Given the description of an element on the screen output the (x, y) to click on. 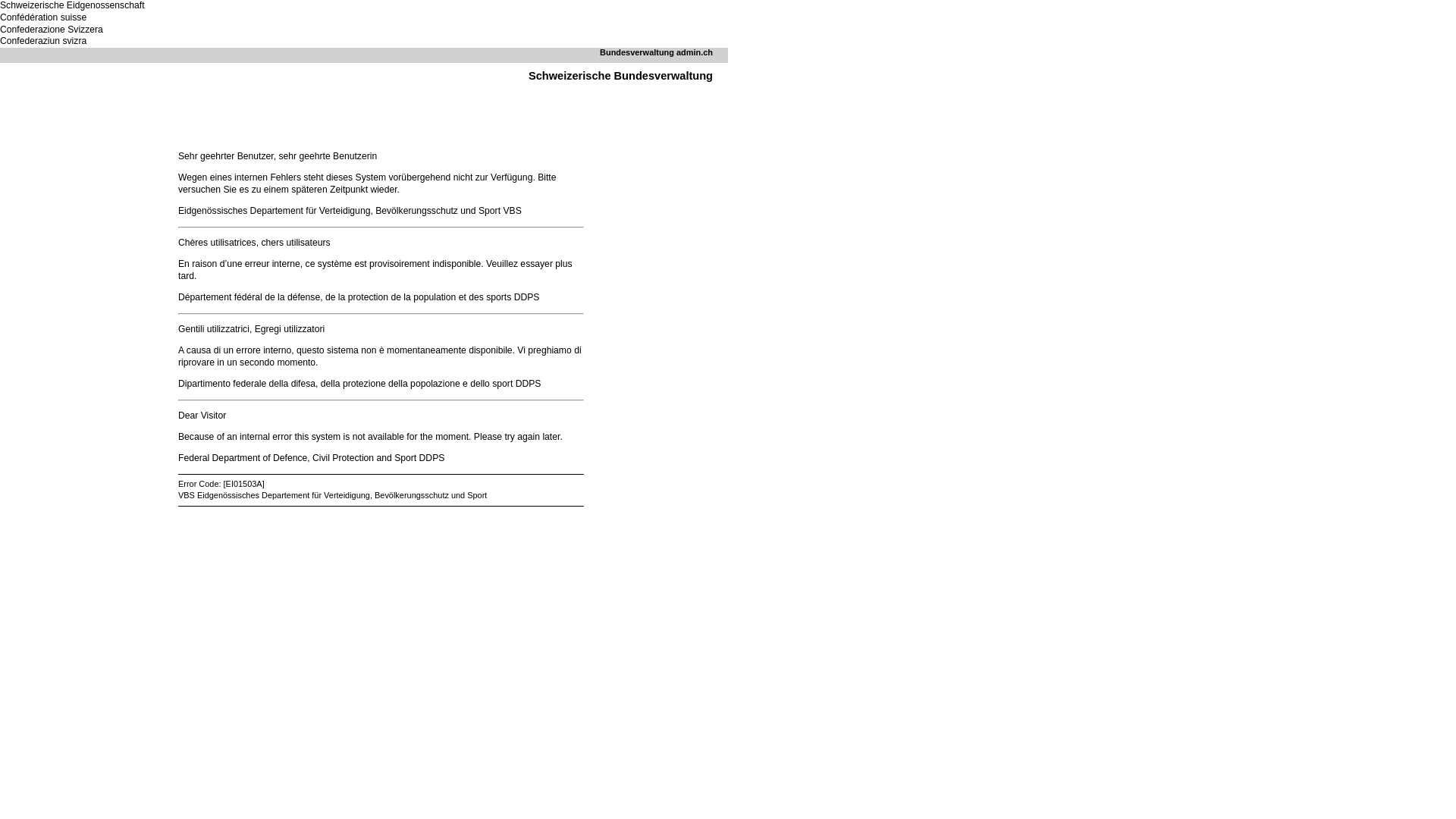
Bundesverwaltung admin.ch Element type: text (655, 51)
